Given the description of an element on the screen output the (x, y) to click on. 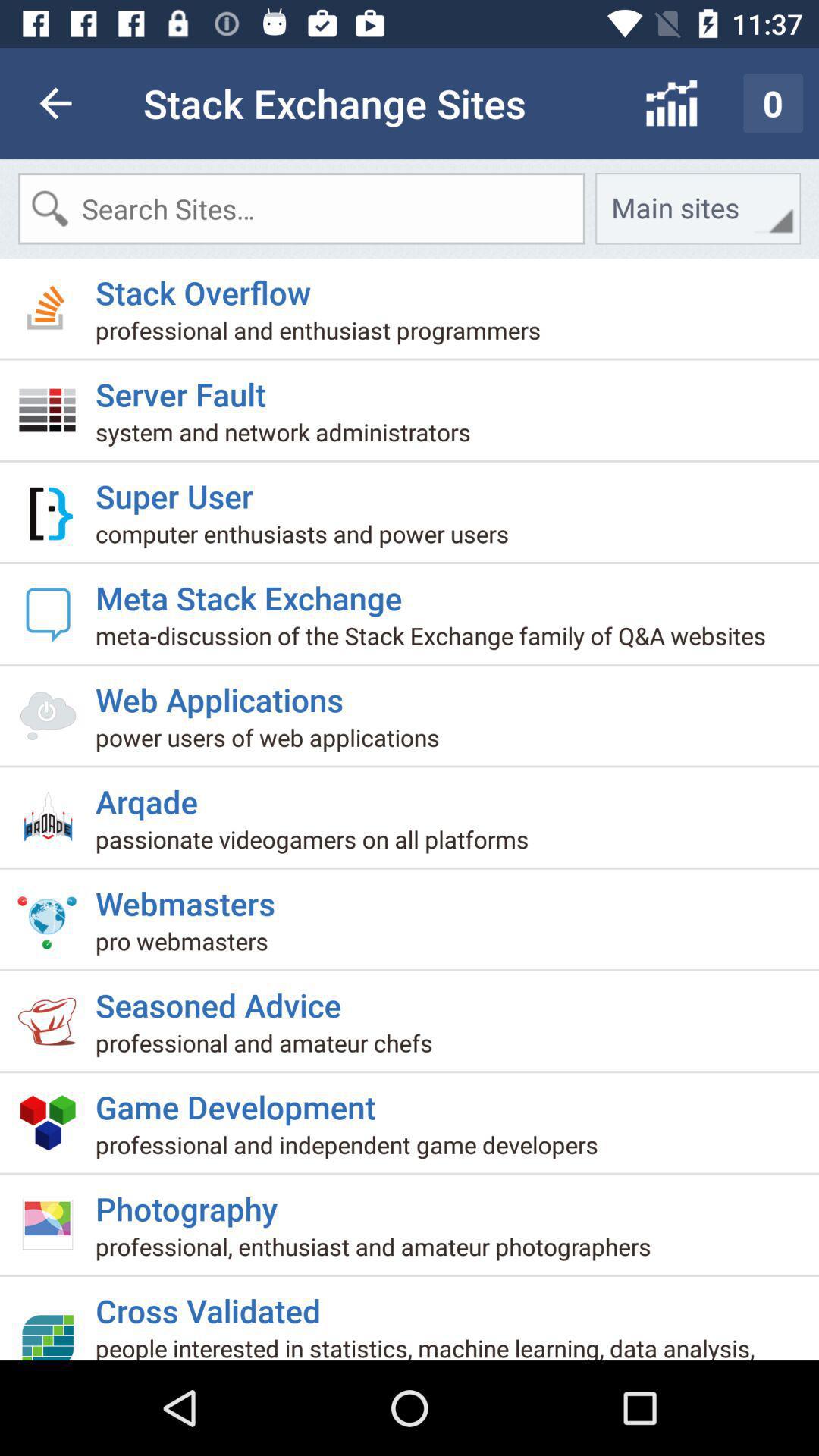
press item above the professional enthusiast and icon (192, 1202)
